Given the description of an element on the screen output the (x, y) to click on. 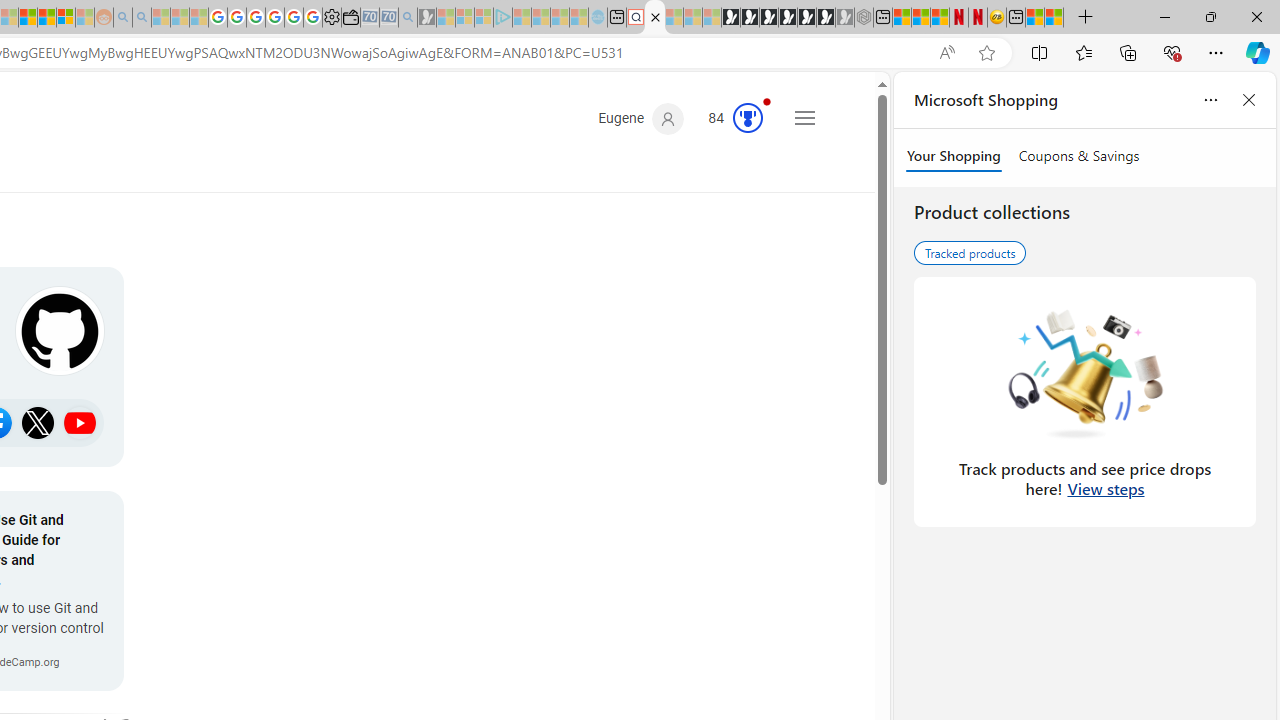
Settings and quick links (804, 117)
Expert Portfolios (28, 17)
Wildlife - MSN (1035, 17)
github - Search (655, 17)
